Given the description of an element on the screen output the (x, y) to click on. 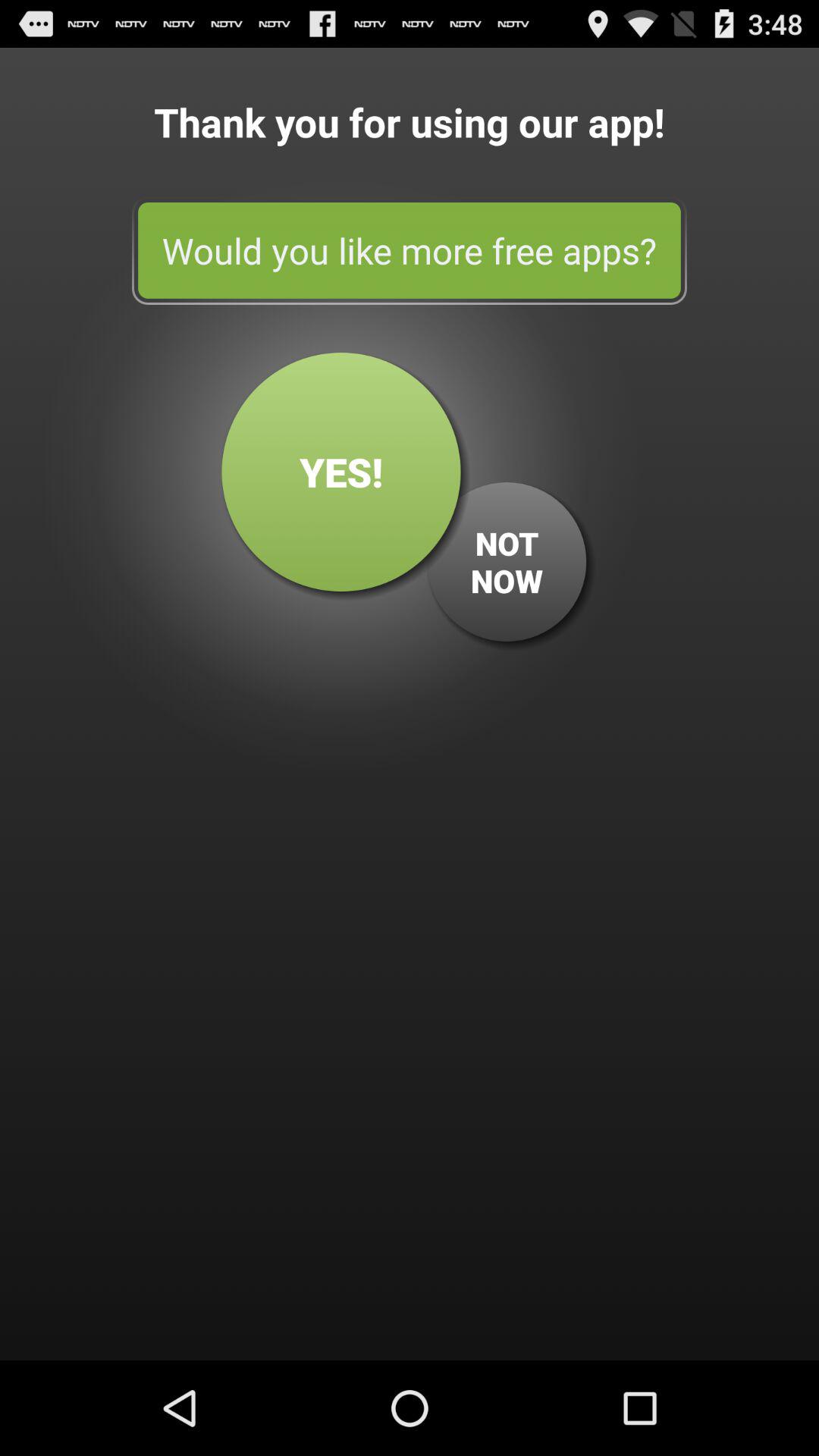
open not now (506, 561)
